Given the description of an element on the screen output the (x, y) to click on. 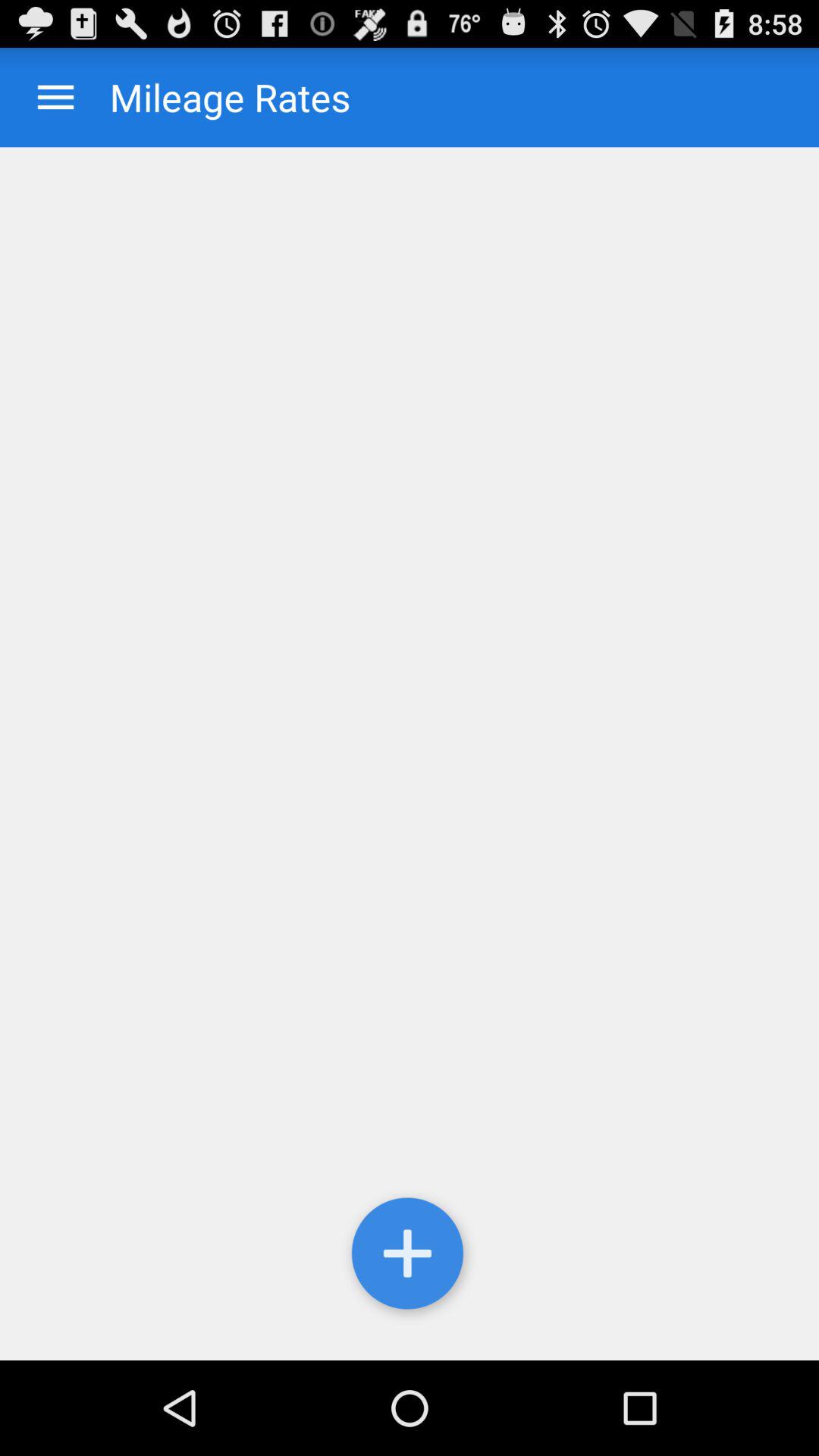
choose icon to the left of mileage rates (55, 97)
